Given the description of an element on the screen output the (x, y) to click on. 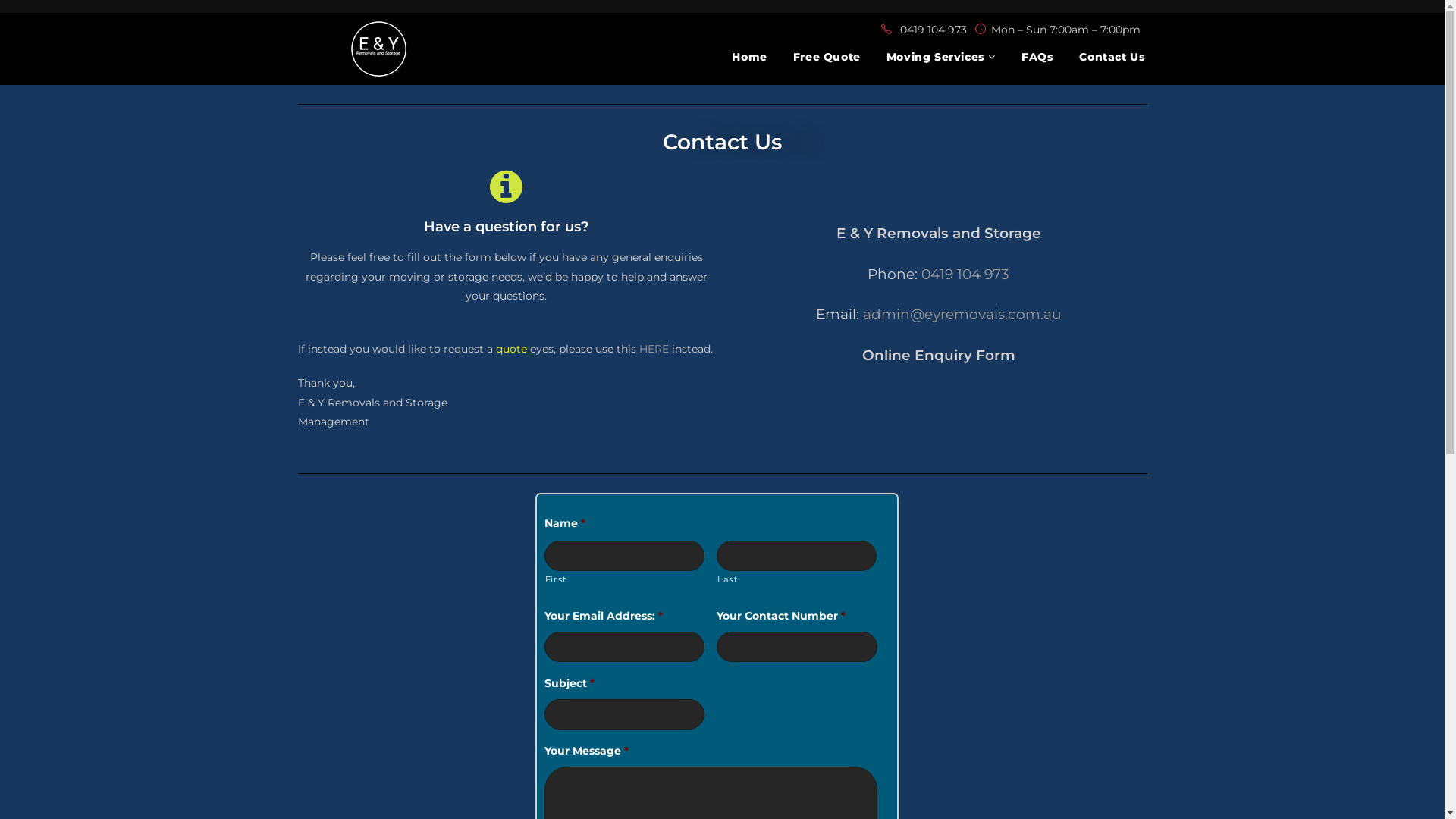
admin@eyremovals.com.au Element type: text (961, 314)
0419 104 973 Element type: text (965, 273)
FAQs Element type: text (1037, 56)
Contact Us Element type: text (1111, 56)
Moving Services Element type: text (941, 56)
HERE Element type: text (653, 348)
Home Element type: text (749, 56)
Free Quote Element type: text (826, 56)
